Given the description of an element on the screen output the (x, y) to click on. 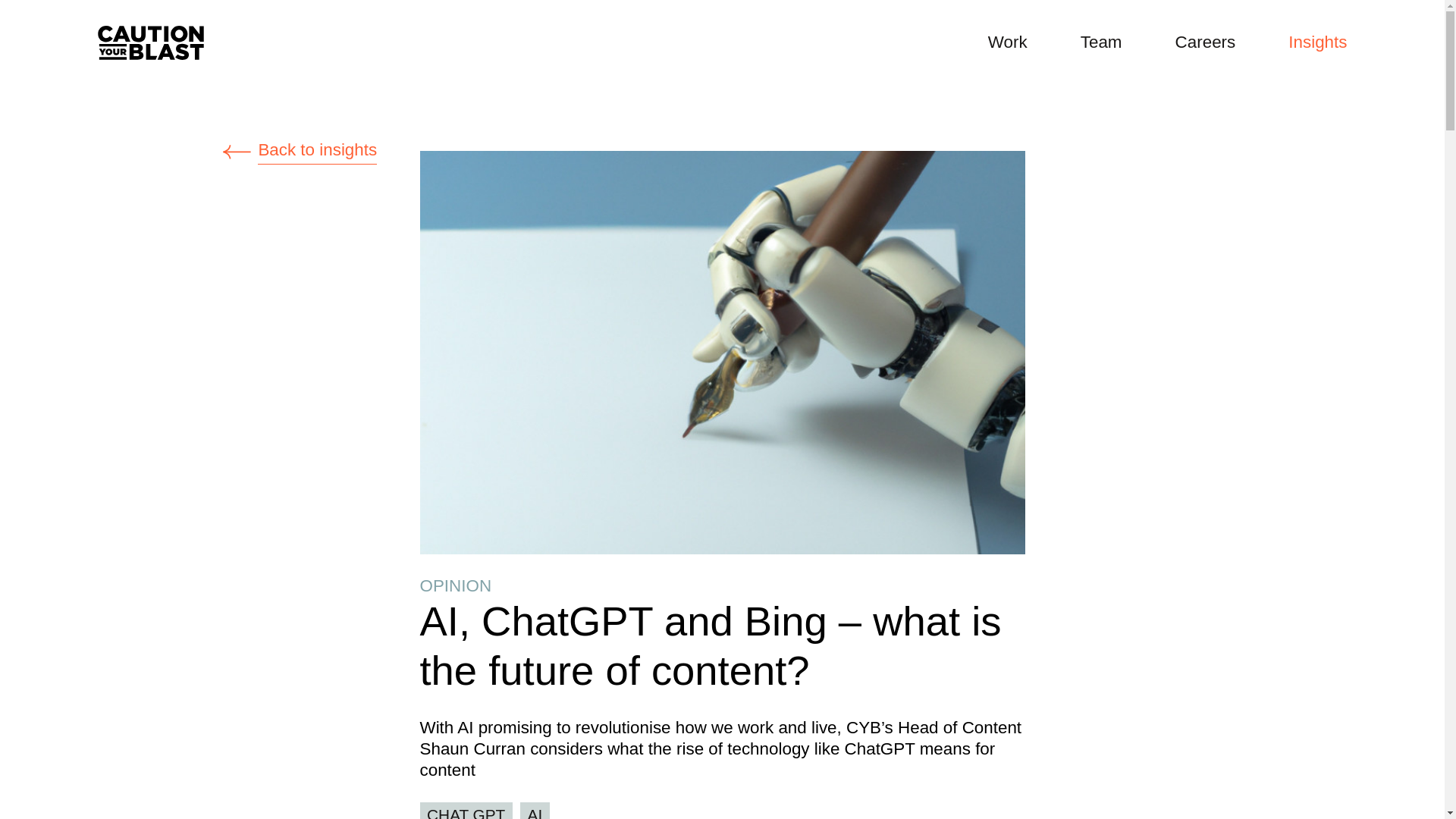
Team (1101, 42)
Back to insights (722, 152)
Work (1007, 42)
Insights (1317, 42)
Careers (1205, 42)
AI (534, 810)
CHAT GPT (466, 810)
